Given the description of an element on the screen output the (x, y) to click on. 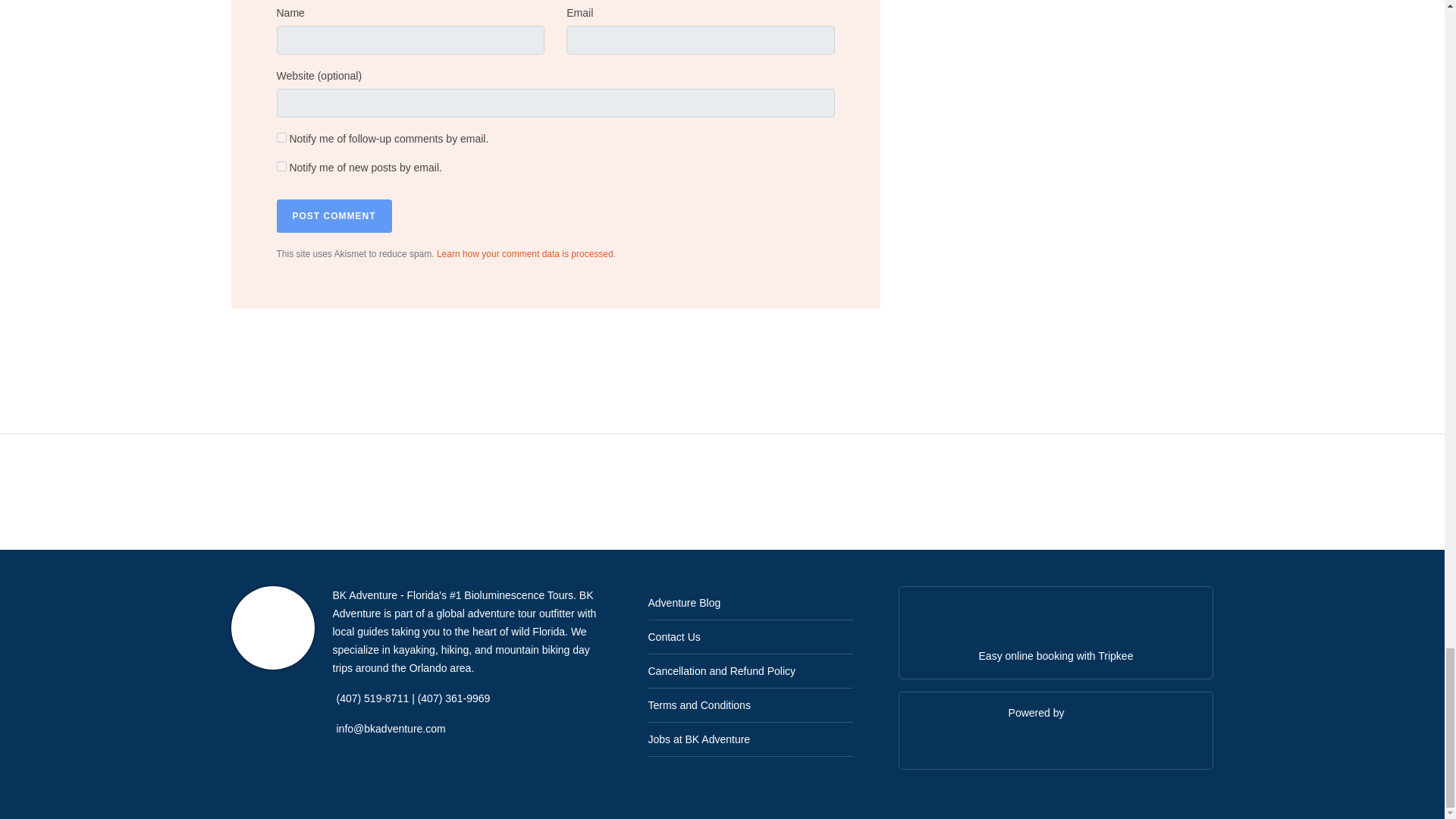
subscribe (280, 166)
subscribe (280, 137)
Post Comment (333, 215)
